Given the description of an element on the screen output the (x, y) to click on. 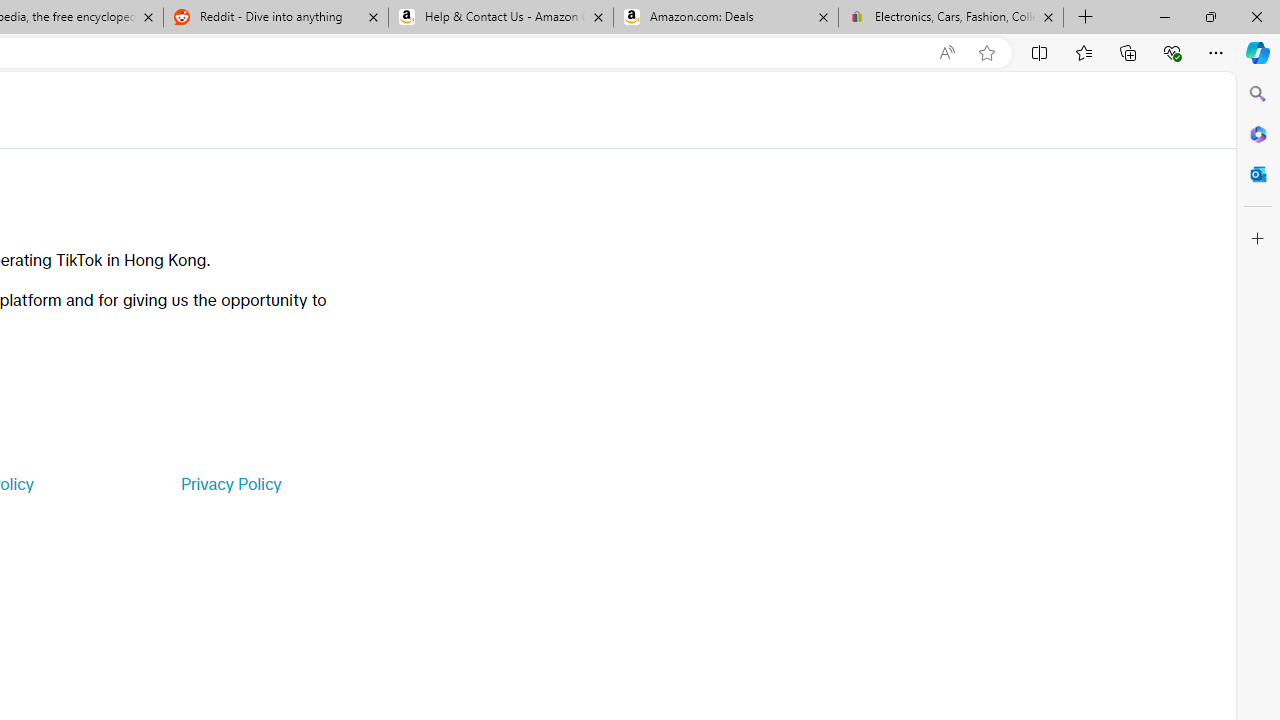
Reddit - Dive into anything (275, 17)
Read aloud this page (Ctrl+Shift+U) (946, 53)
Restore (1210, 16)
Browser essentials (1171, 52)
Add this page to favorites (Ctrl+D) (986, 53)
Copilot (Ctrl+Shift+.) (1258, 52)
Close Outlook pane (1258, 174)
